Given the description of an element on the screen output the (x, y) to click on. 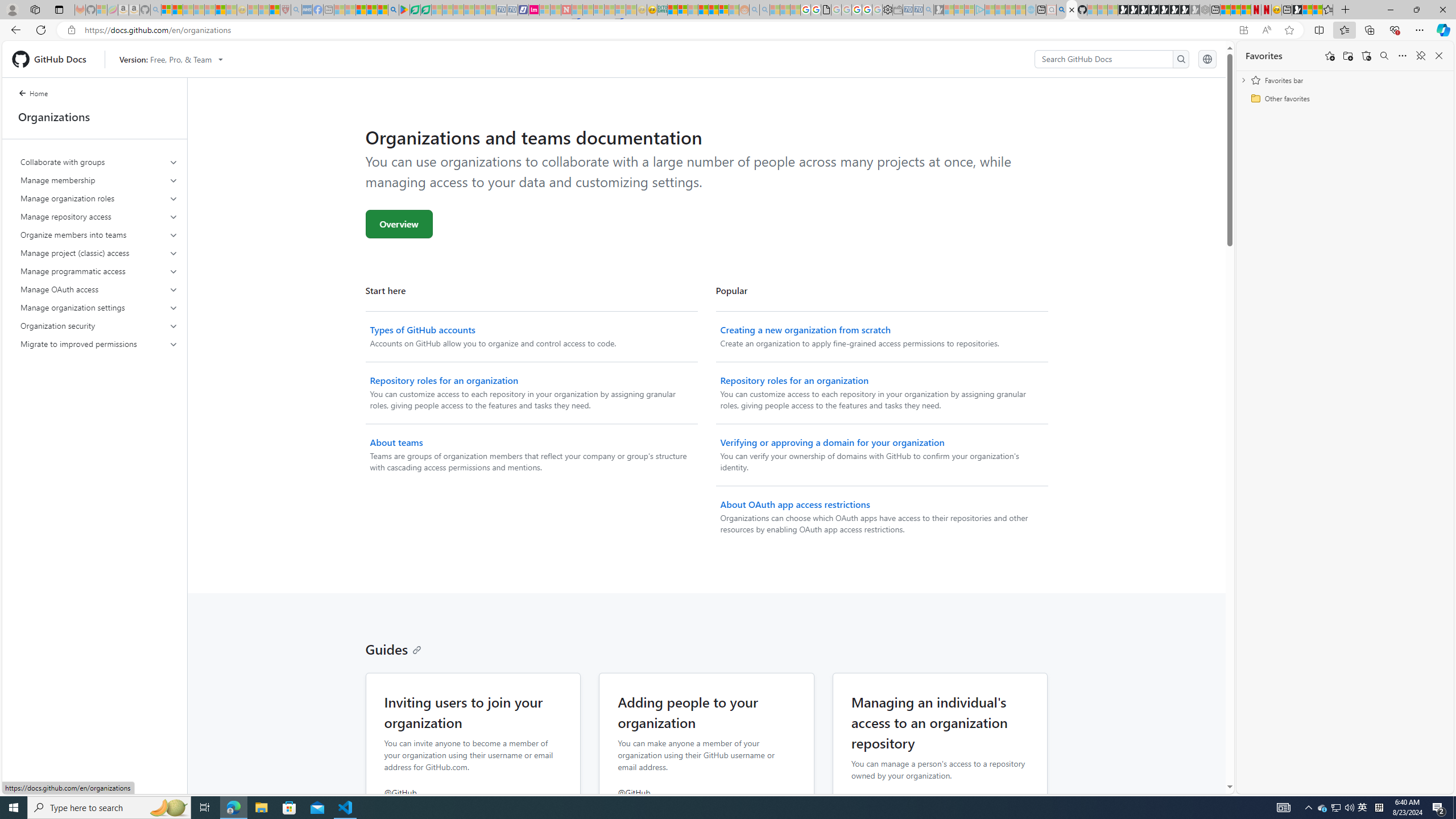
Manage OAuth access (99, 289)
Manage membership (99, 180)
